Given the description of an element on the screen output the (x, y) to click on. 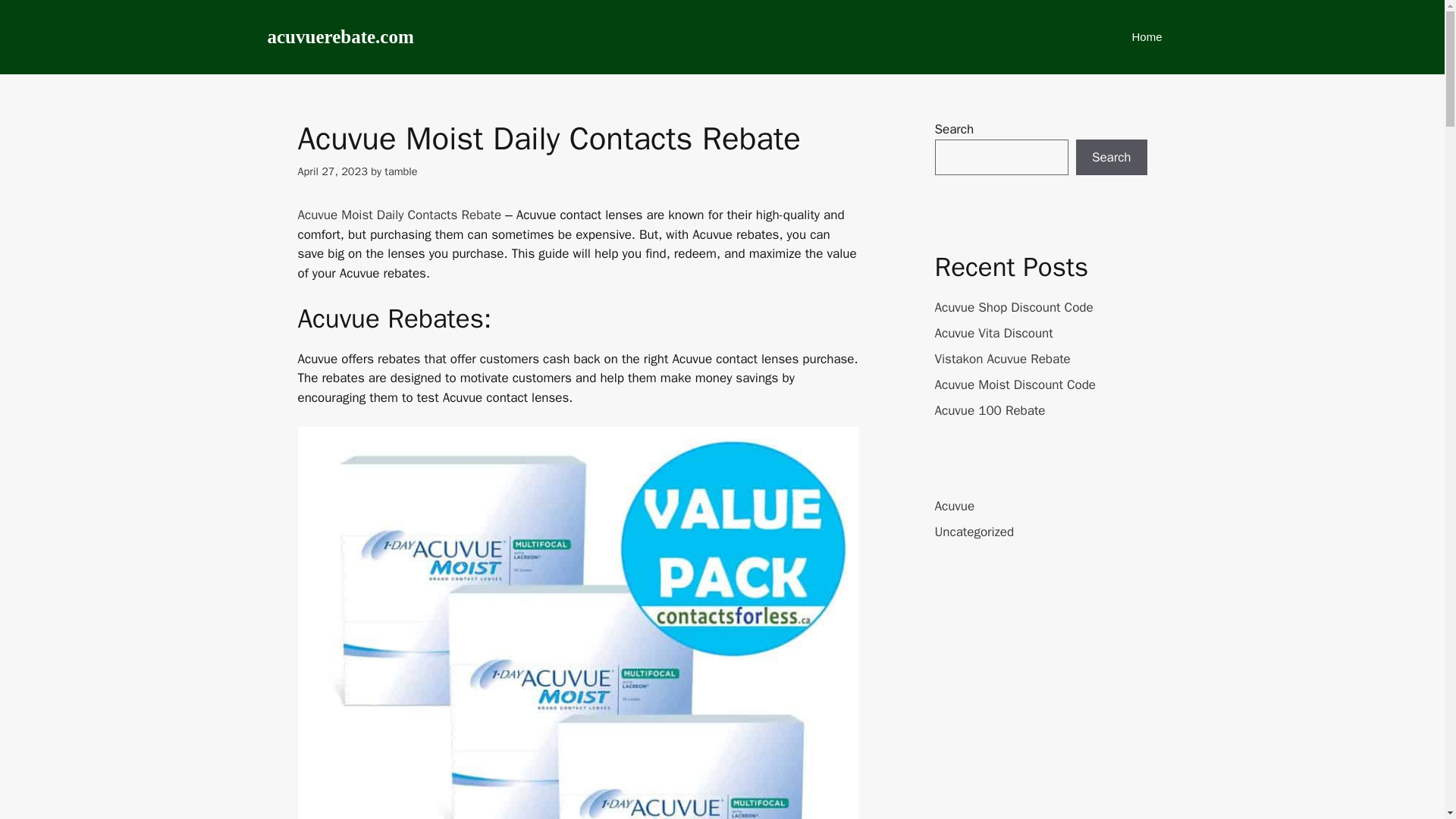
tamble (400, 171)
Acuvue Moist Discount Code (1015, 384)
Acuvue Moist Daily Contacts Rebate (398, 214)
View all posts by tamble (400, 171)
Uncategorized (973, 530)
Acuvue (954, 505)
Acuvue Shop Discount Code (1013, 307)
Acuvue 100 Rebate (989, 410)
Acuvue Vita Discount (993, 333)
Search (1111, 157)
